Given the description of an element on the screen output the (x, y) to click on. 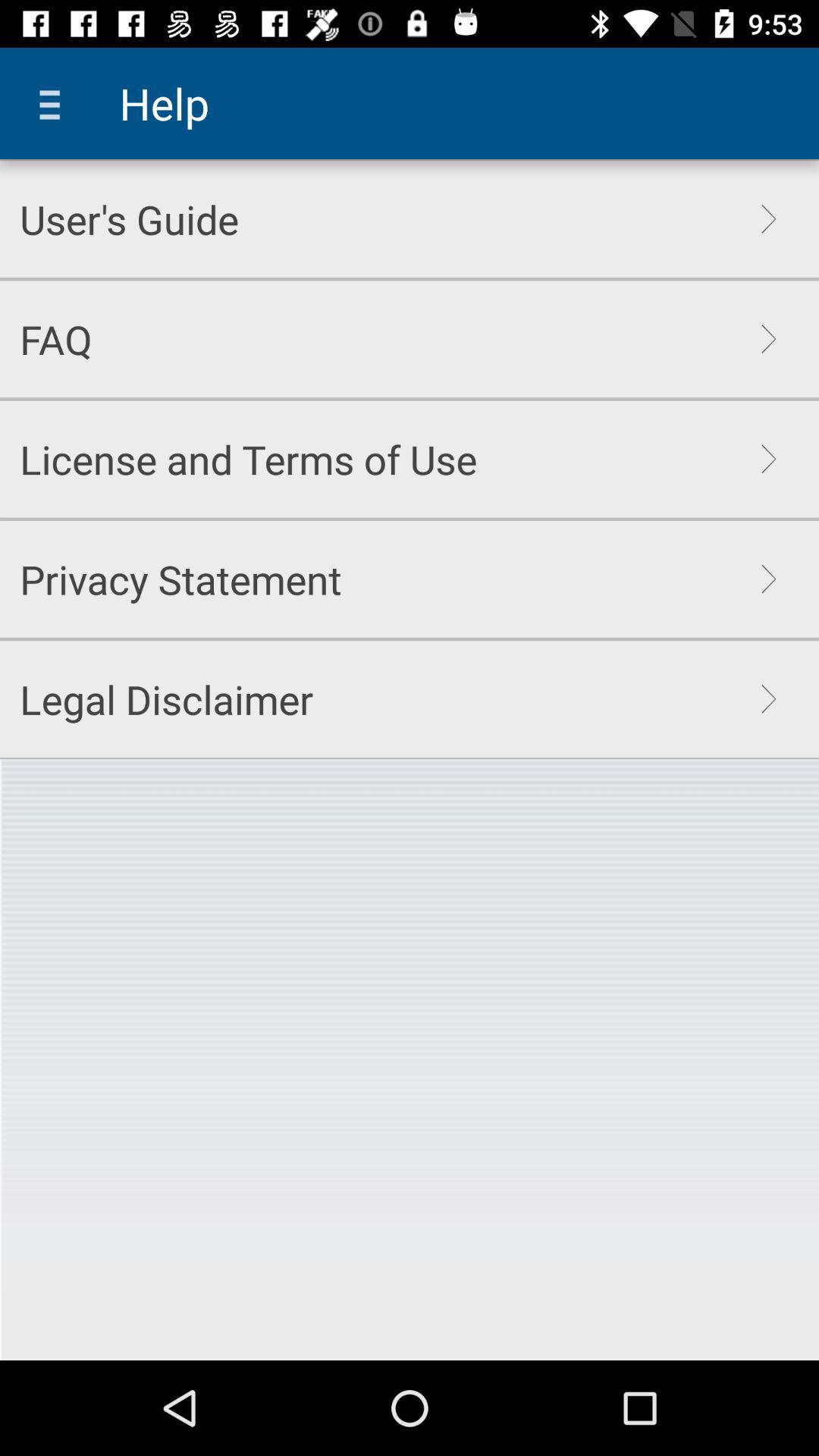
scroll to faq icon (56, 338)
